Given the description of an element on the screen output the (x, y) to click on. 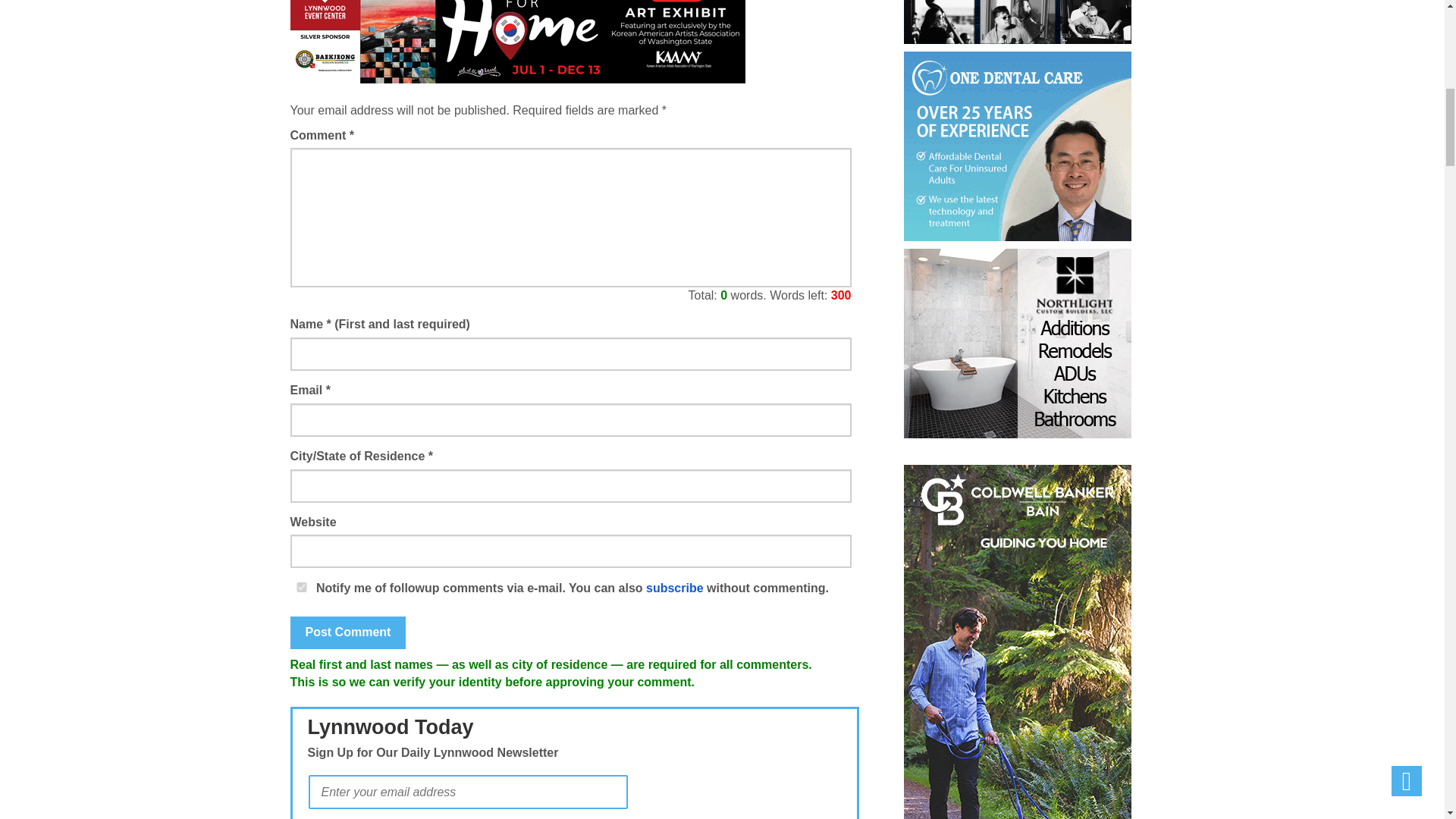
yes (301, 587)
Post Comment (347, 632)
